Given the description of an element on the screen output the (x, y) to click on. 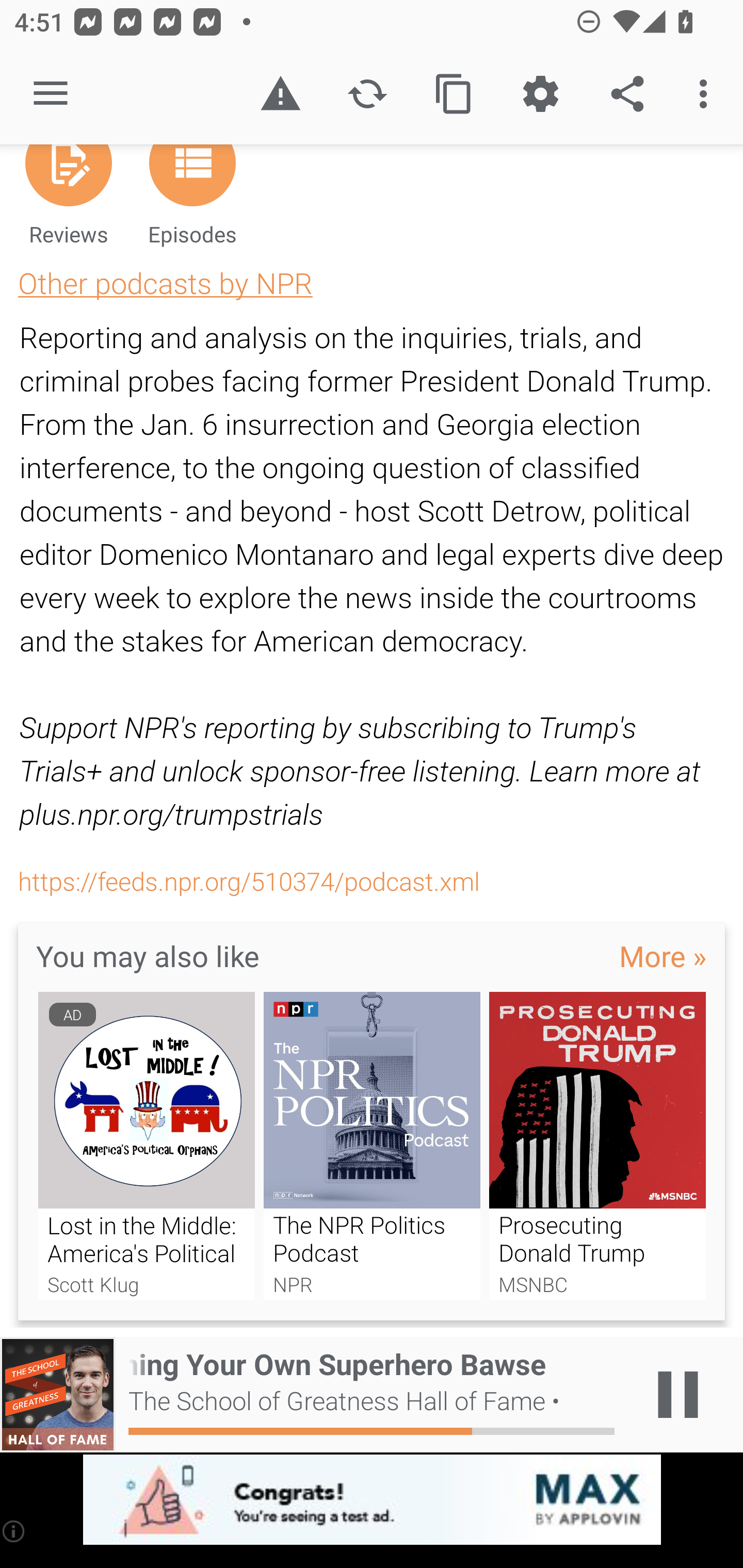
Open navigation sidebar (50, 93)
Report inappropriate content (280, 93)
Refresh podcast description (366, 93)
Copy feed url to clipboard (453, 93)
Custom Settings (540, 93)
Share the podcast (626, 93)
More options (706, 93)
Reviews (68, 203)
Episodes (192, 203)
Other podcasts by NPR (164, 282)
More » (662, 955)
The NPR Politics Podcast NPR (371, 1145)
Prosecuting Donald Trump MSNBC (596, 1145)
Play / Pause (677, 1394)
app-monetization (371, 1500)
(i) (14, 1531)
